Given the description of an element on the screen output the (x, y) to click on. 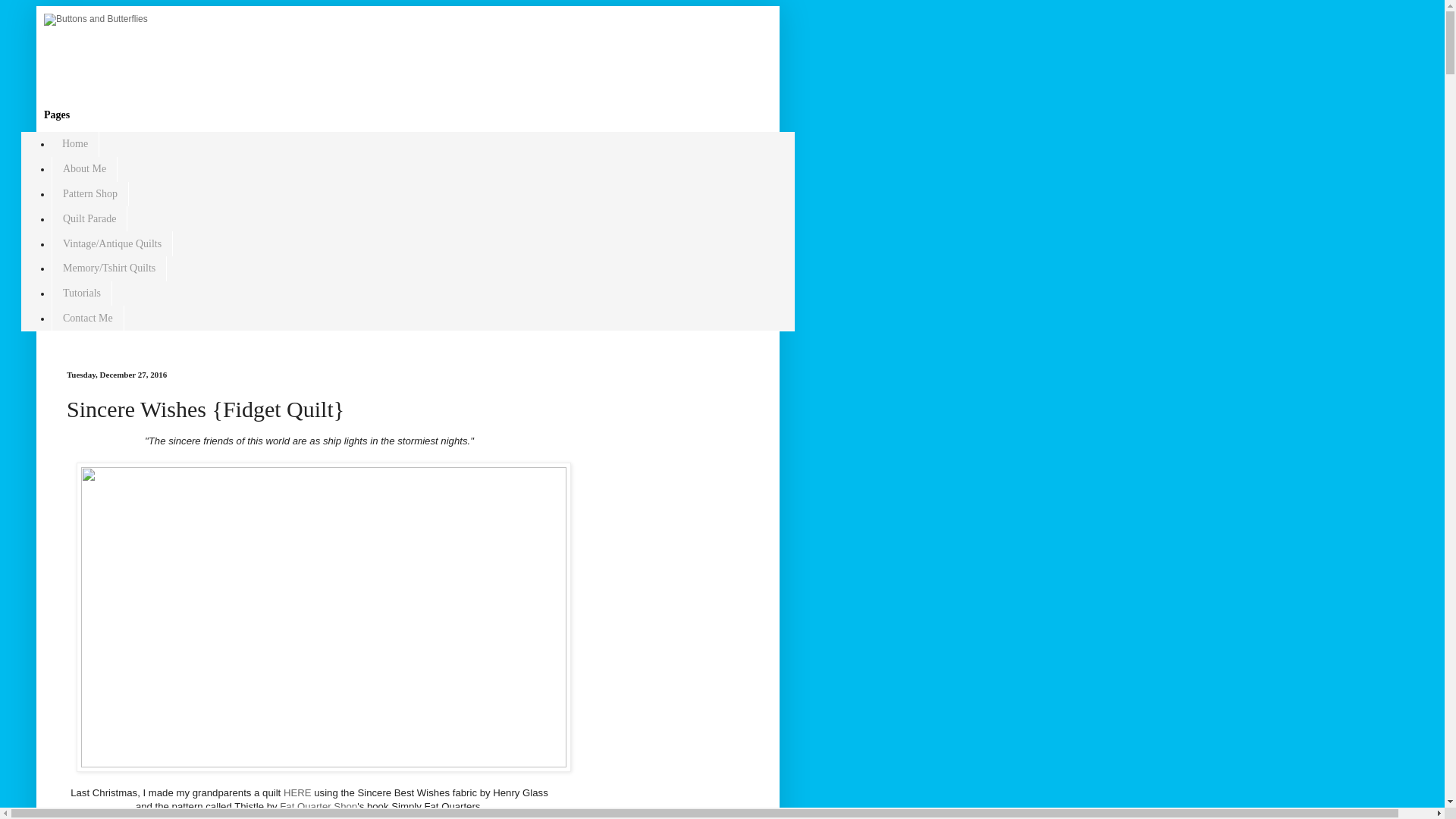
HERE (297, 792)
Fat Quarter Shop (317, 806)
About Me (83, 169)
Home (74, 144)
Quilt Parade (89, 218)
Contact Me (86, 317)
Pattern Shop (89, 194)
Tutorials (81, 293)
